Given the description of an element on the screen output the (x, y) to click on. 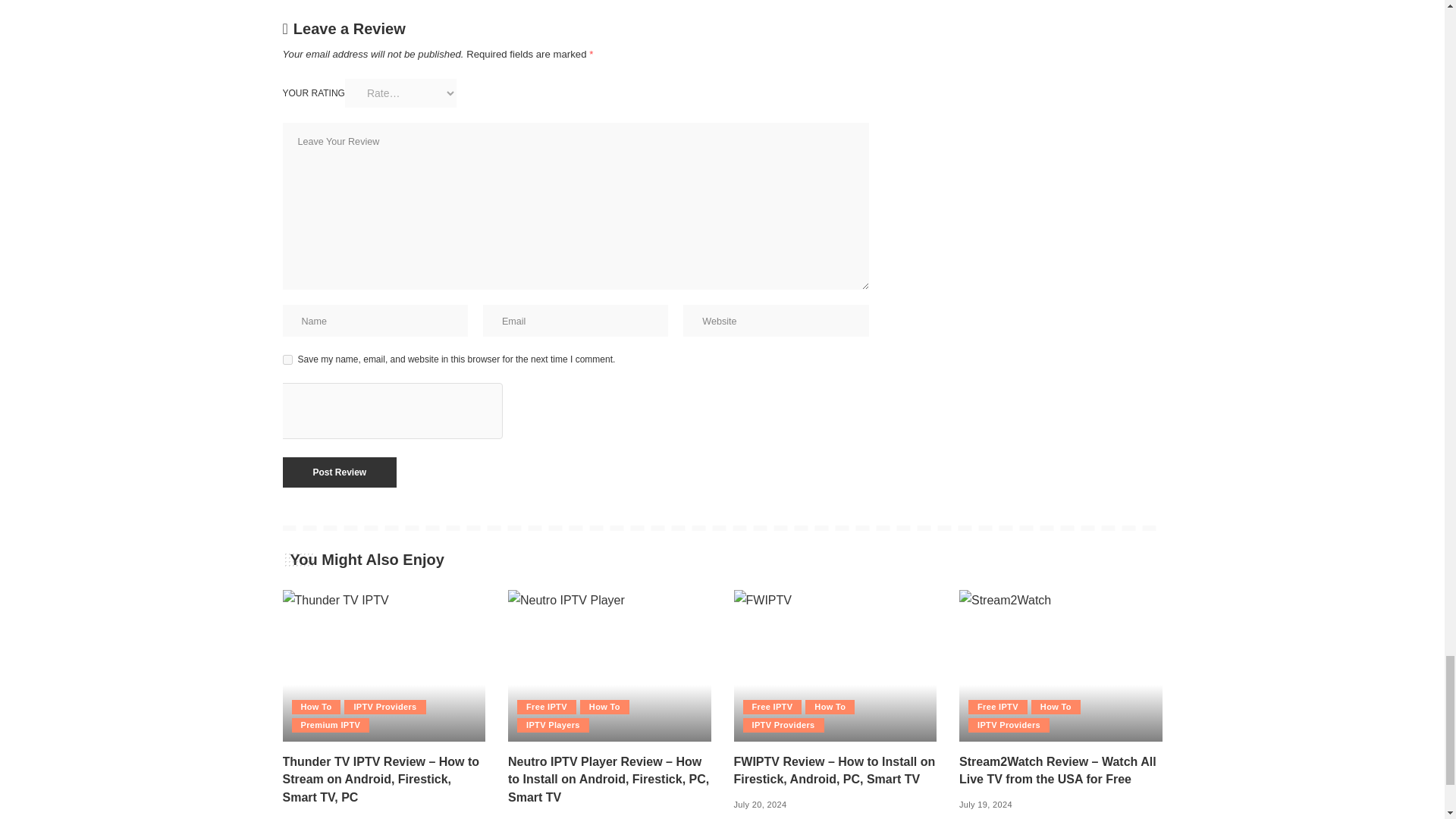
yes (287, 359)
Post Review (339, 472)
